Given the description of an element on the screen output the (x, y) to click on. 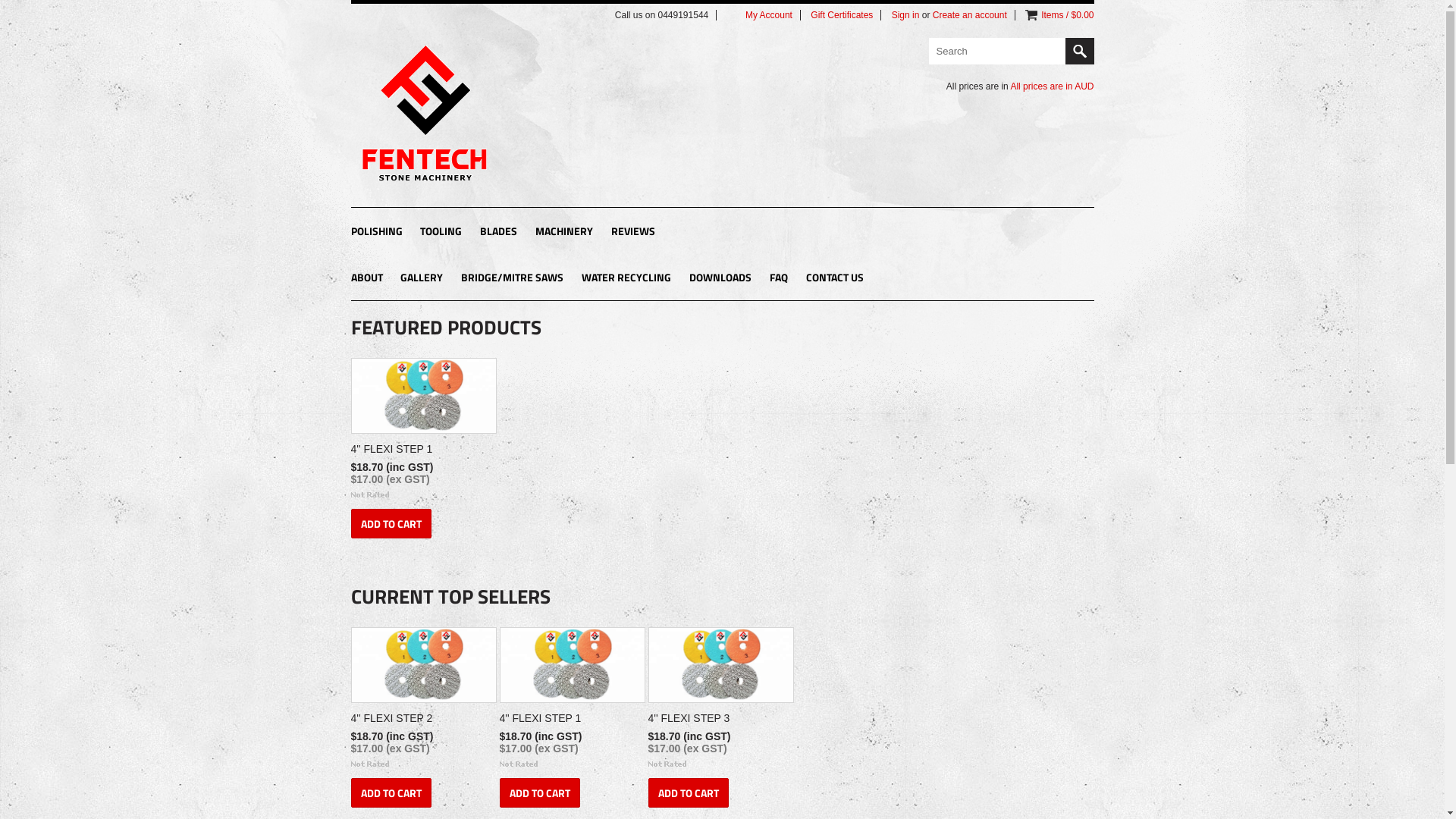
GALLERY Element type: text (421, 278)
ABOUT Element type: text (366, 278)
REVIEWS Element type: text (633, 231)
4'' FLEXI STEP 1 Element type: text (569, 720)
4'' FLEXI STEP 1 Element type: text (421, 451)
MACHINERY Element type: text (564, 231)
Gift Certificates Element type: text (841, 14)
POLISHING Element type: text (375, 231)
CONTACT US Element type: text (834, 278)
Sign in Element type: text (905, 14)
ADD TO CART Element type: text (390, 523)
My Account Element type: text (768, 14)
WATER RECYCLING Element type: text (626, 278)
TOOLING Element type: text (440, 231)
Search Element type: hover (1078, 50)
BLADES Element type: text (498, 231)
DOWNLOADS Element type: text (720, 278)
BRIDGE/MITRE SAWS Element type: text (512, 278)
4'' FLEXI STEP 3 Element type: text (718, 720)
4'' FLEXI STEP 2 Element type: text (421, 720)
All prices are in AUD Element type: text (1051, 86)
FAQ Element type: text (778, 278)
ADD TO CART Element type: text (538, 792)
View Cart Element type: hover (1031, 14)
ADD TO CART Element type: text (687, 792)
ADD TO CART Element type: text (390, 792)
Items / $0.00 Element type: text (1067, 14)
Create an account Element type: text (969, 14)
